Given the description of an element on the screen output the (x, y) to click on. 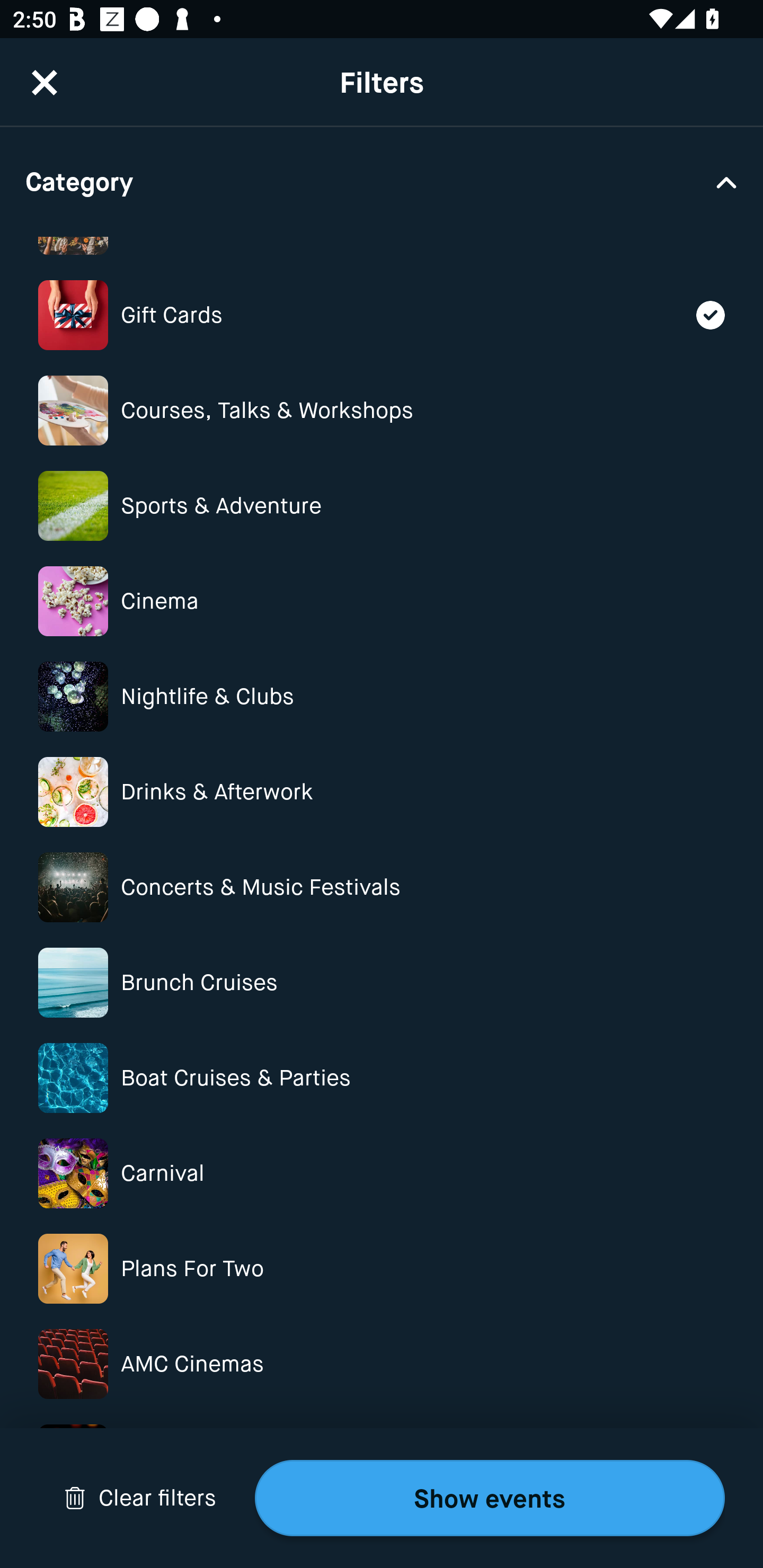
Category Drop Down Arrow (381, 181)
Category Image Gift Cards Selected Icon (381, 314)
Category Image Courses, Talks & Workshops (381, 410)
Category Image Sports & Adventure (381, 505)
Category Image Cinema (381, 600)
Category Image Nightlife & Clubs (381, 696)
Category Image Drinks & Afterwork (381, 791)
Category Image Concerts & Music Festivals (381, 887)
Category Image Brunch Cruises (381, 981)
Category Image Boat Cruises & Parties (381, 1077)
Category Image Carnival (381, 1173)
Category Image Plans For Two (381, 1268)
Category Image AMC Cinemas (381, 1363)
Drop Down Arrow Clear filters (139, 1497)
Show events (489, 1497)
